Given the description of an element on the screen output the (x, y) to click on. 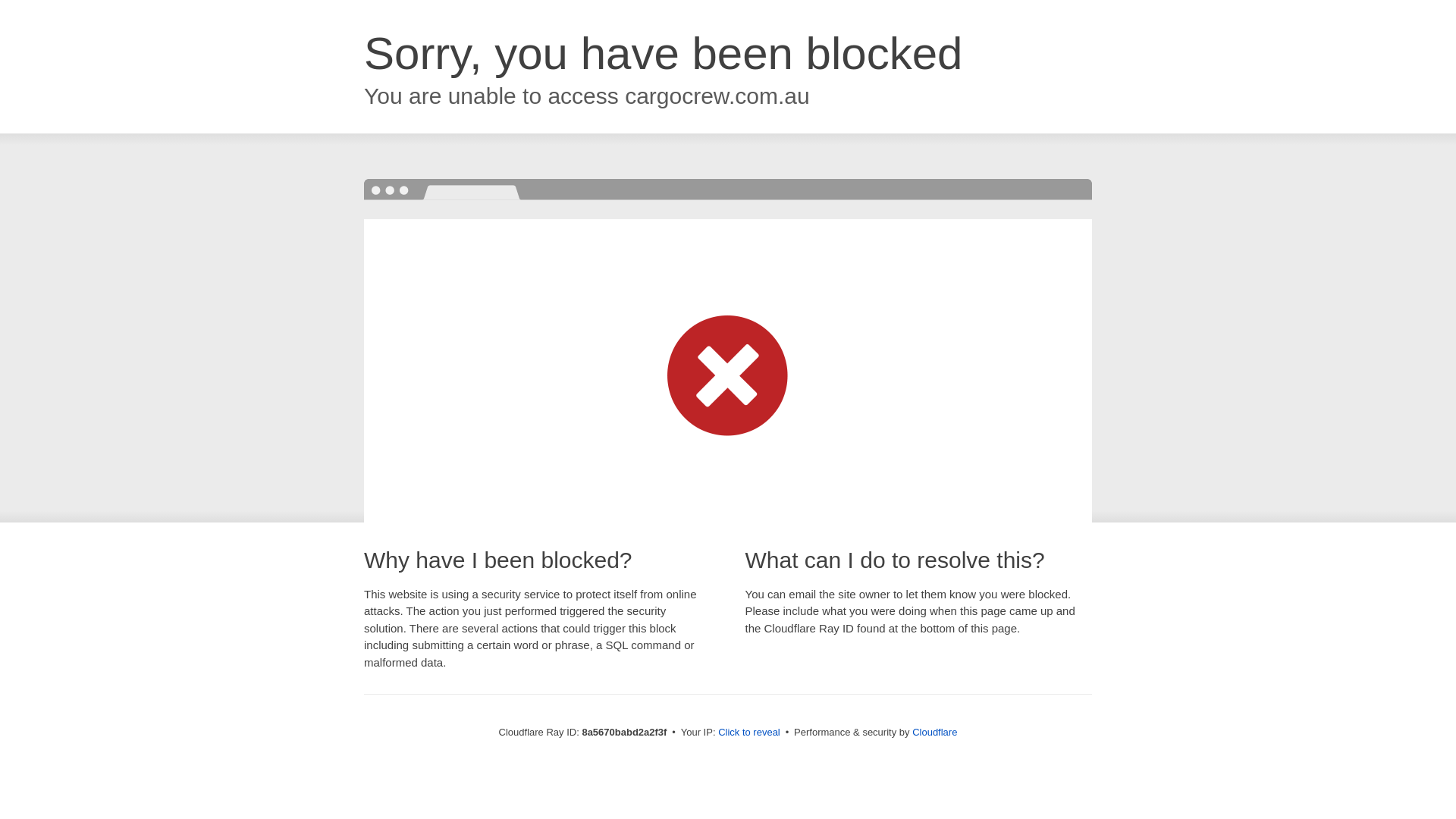
Cloudflare (934, 731)
Click to reveal (748, 732)
